Given the description of an element on the screen output the (x, y) to click on. 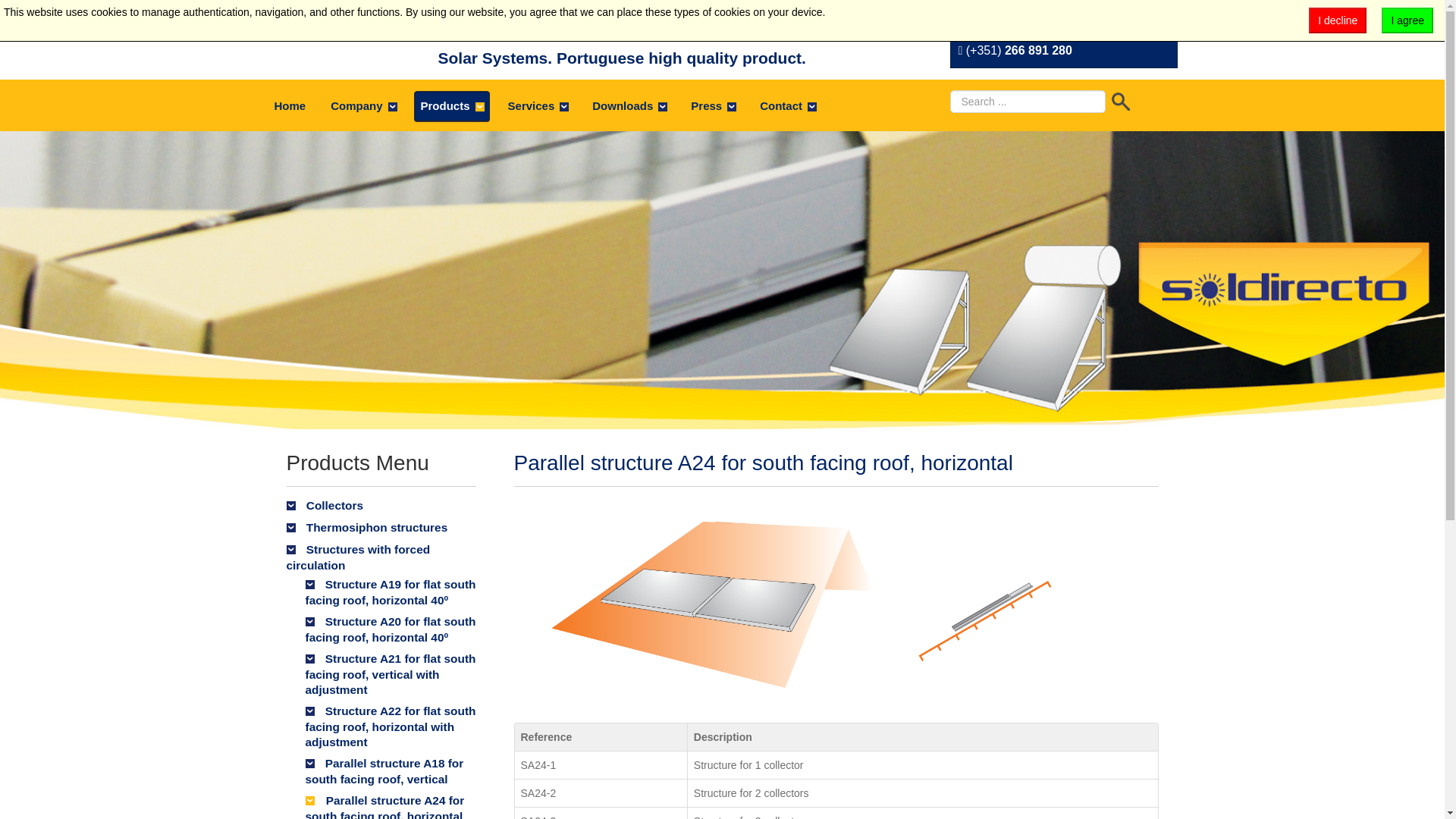
Structures with forced circulation (381, 557)
EN (1038, 15)
ES (1013, 15)
Services (537, 105)
Downloads (628, 105)
Thermosiphon structures (381, 528)
Collectors (381, 505)
DE (961, 15)
Parallel structure A24 for south facing roof, horizontal (763, 463)
Company (362, 105)
Home (290, 105)
PT (986, 15)
Parallel structure A24 for south facing roof, horizontal (817, 604)
